Given the description of an element on the screen output the (x, y) to click on. 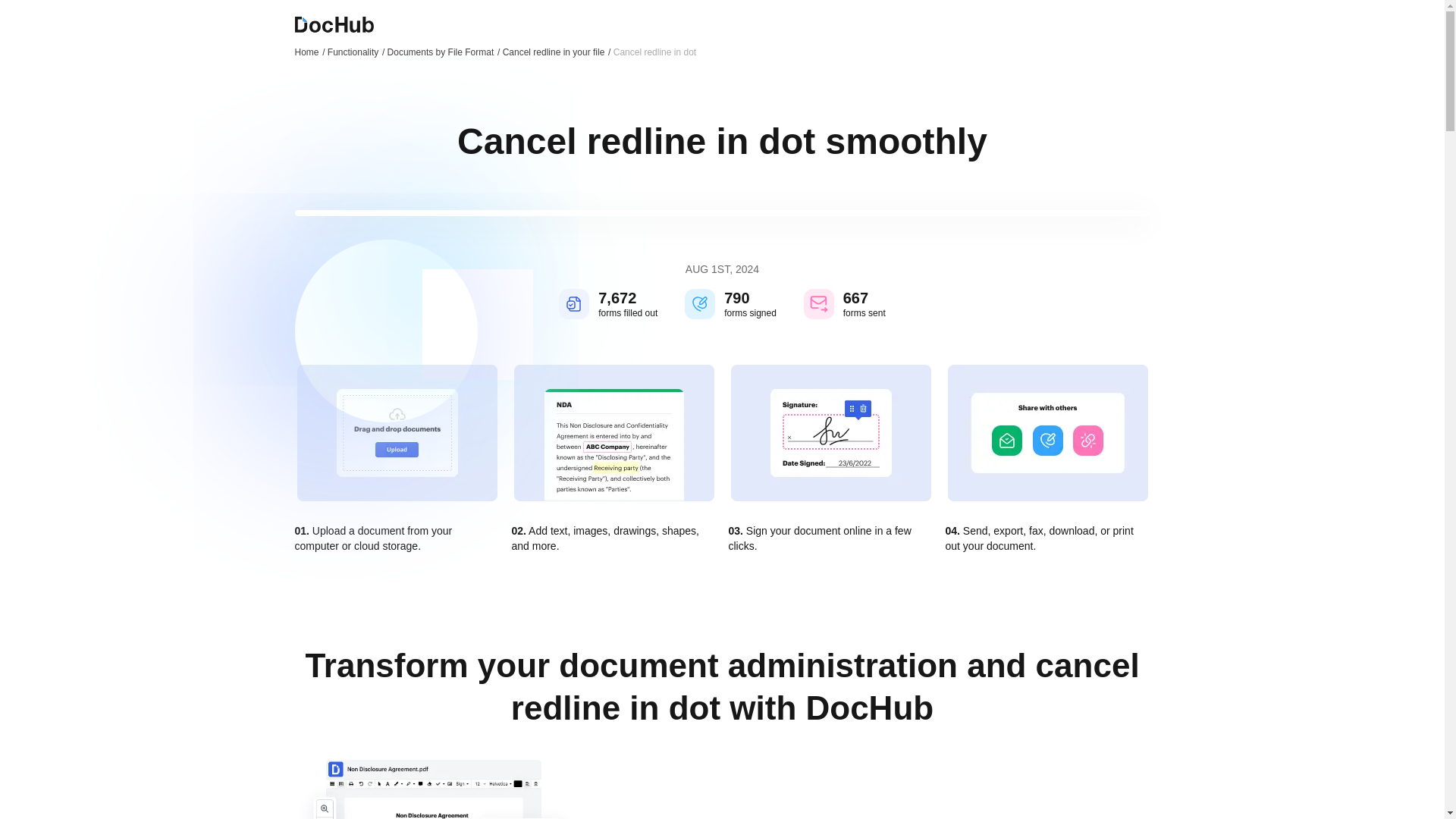
Functionality (355, 51)
Cancel redline in your file (556, 51)
Documents by File Format (443, 51)
Home (309, 51)
